Given the description of an element on the screen output the (x, y) to click on. 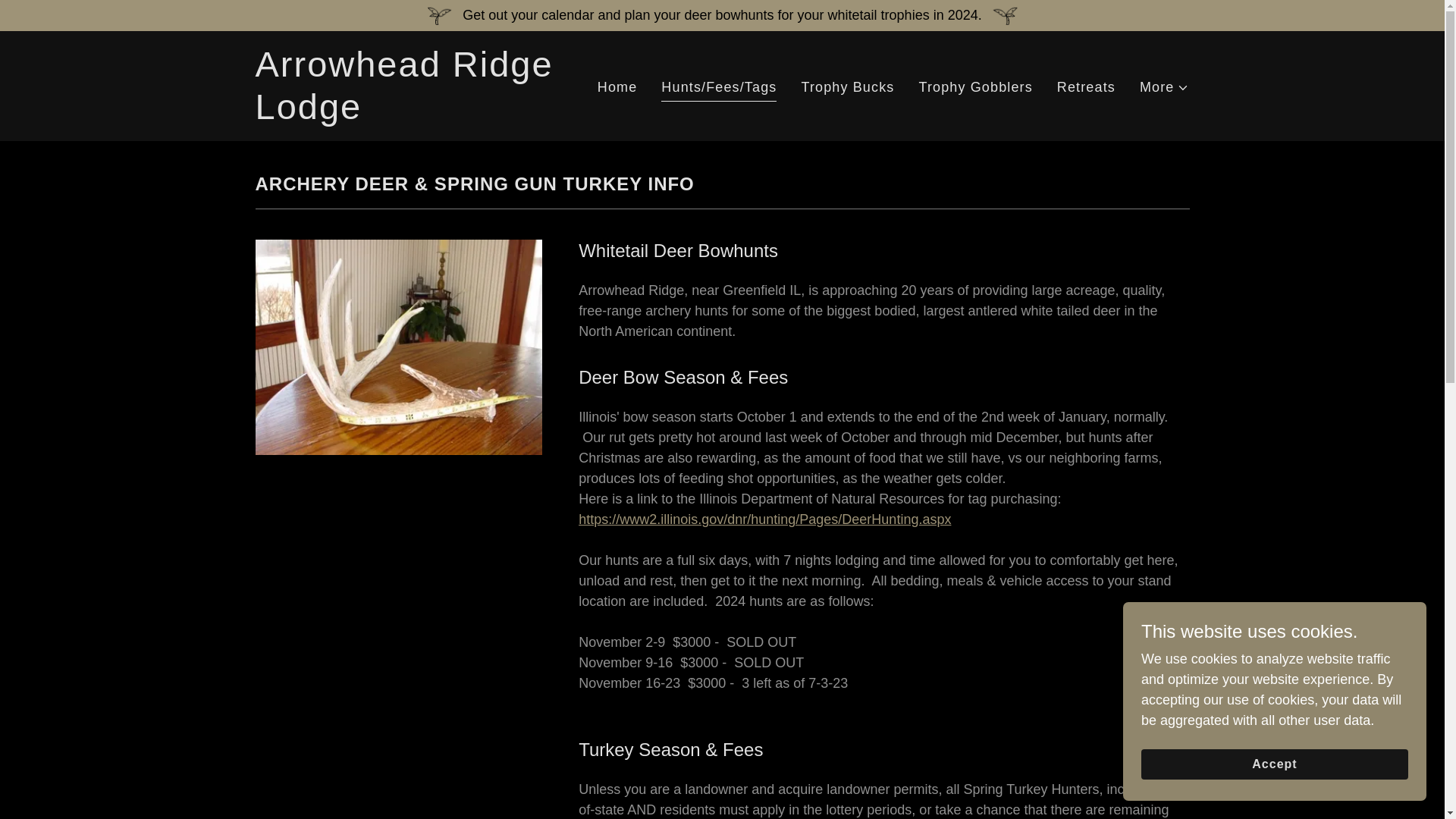
Trophy Bucks (847, 87)
Arrowhead Ridge Lodge (417, 114)
More (1164, 86)
Arrowhead Ridge Lodge (417, 114)
Trophy Gobblers (975, 87)
Retreats (1085, 87)
Home (617, 87)
